Given the description of an element on the screen output the (x, y) to click on. 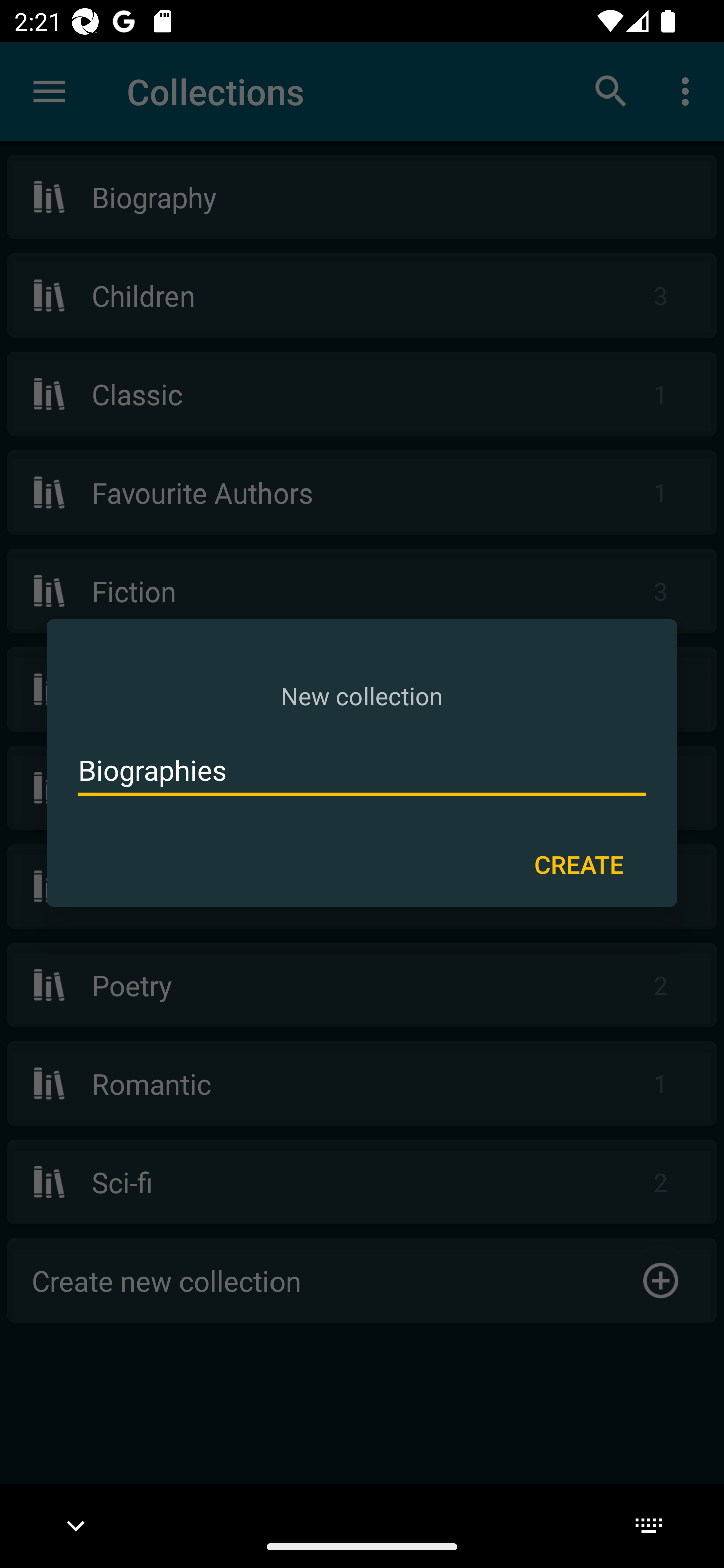
Biographies (361, 770)
CREATE (578, 863)
